Given the description of an element on the screen output the (x, y) to click on. 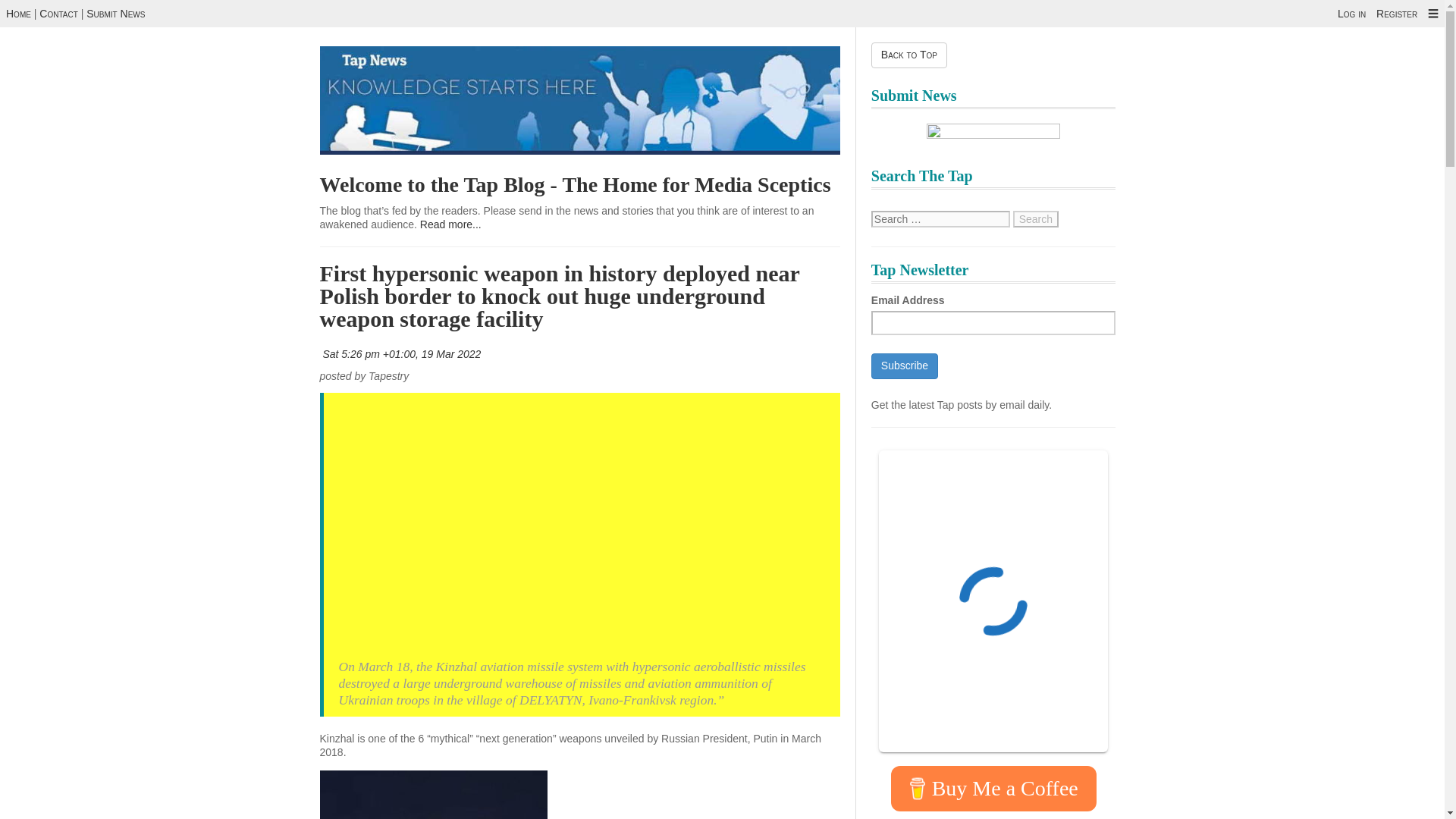
Submit News (114, 13)
Register (1395, 13)
Subscribe (903, 365)
Home (17, 13)
Back to Top (908, 54)
Contact Us (114, 13)
Contact (58, 13)
Contact Us (58, 13)
Read more... (450, 224)
